Given the description of an element on the screen output the (x, y) to click on. 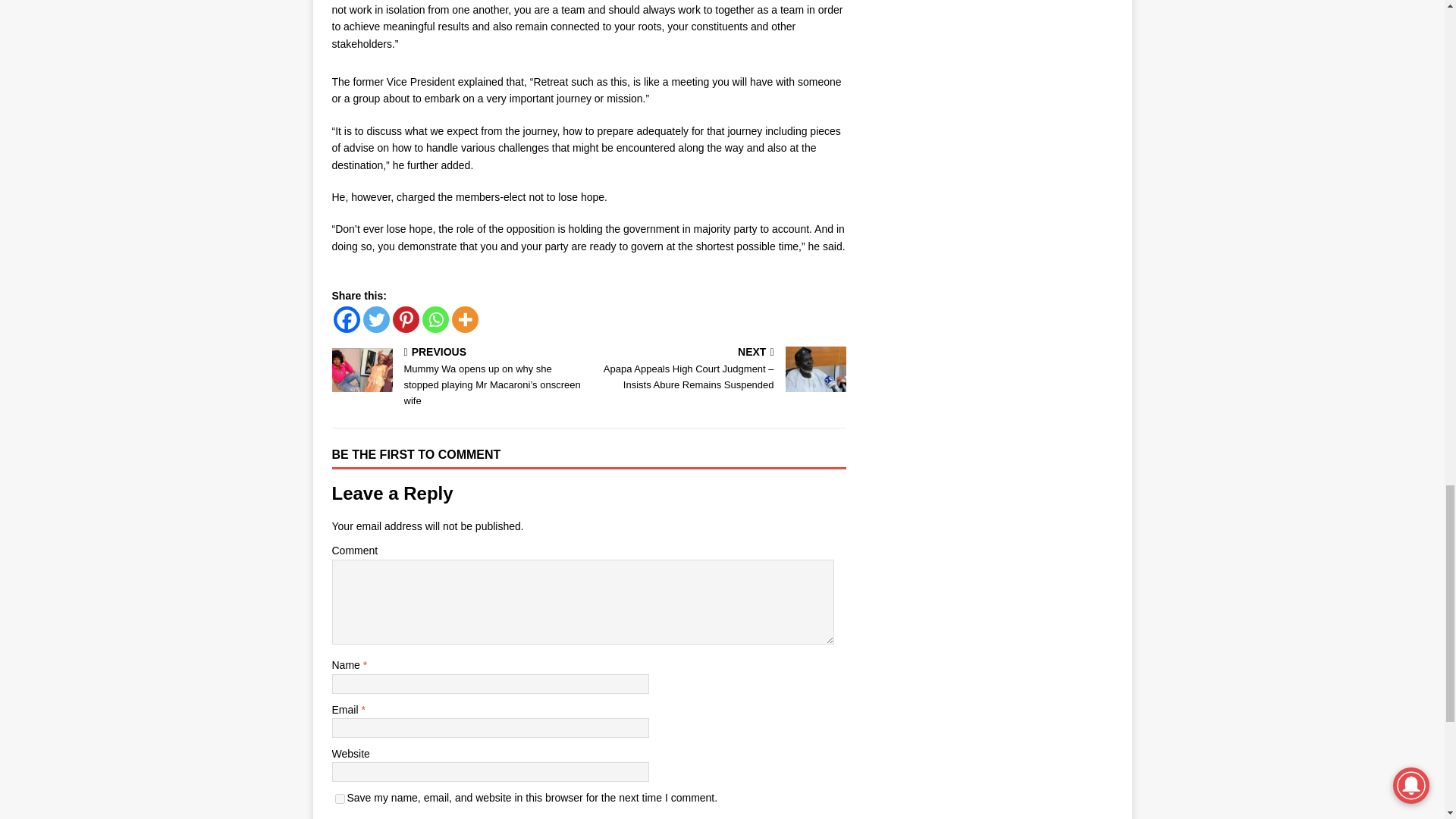
yes (339, 798)
